Given the description of an element on the screen output the (x, y) to click on. 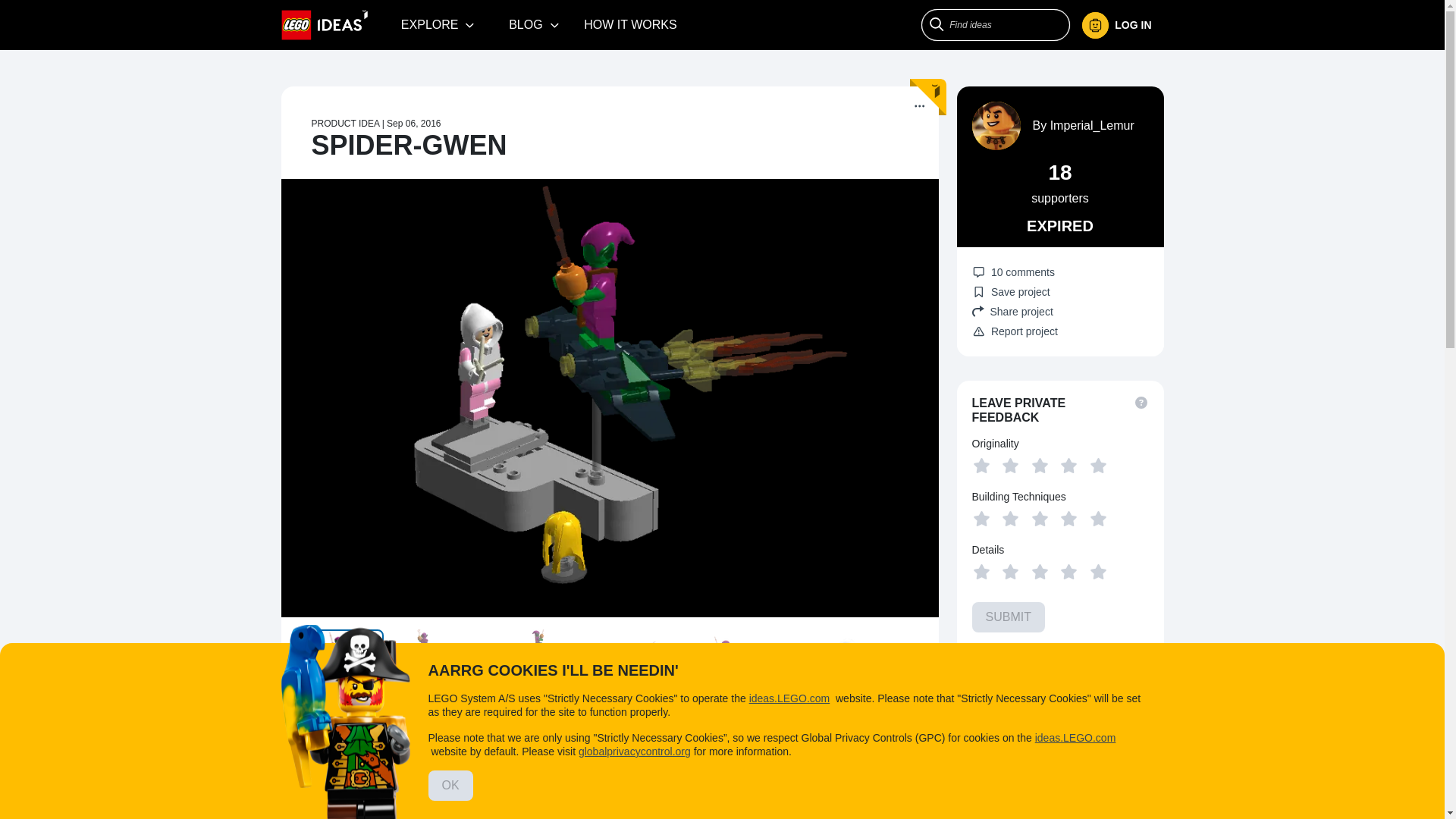
2016-09-06T05:38:43Z (414, 122)
HOW IT WORKS (630, 24)
Me (1116, 25)
COMMENTS 10 (518, 731)
LOG IN (1122, 25)
UPDATES 3 (422, 731)
EXPLORE (437, 24)
Save project (1010, 291)
